Given the description of an element on the screen output the (x, y) to click on. 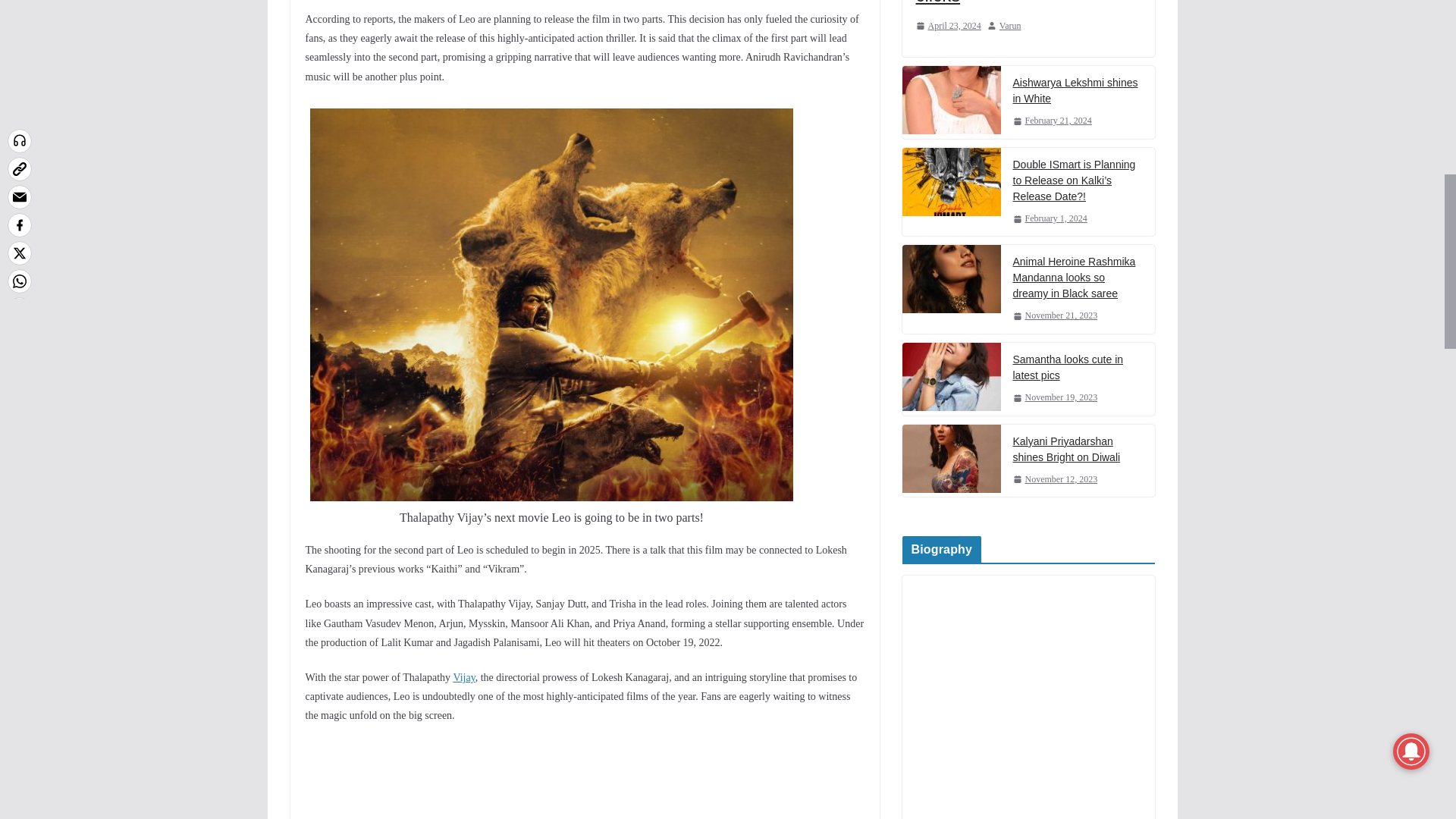
Vijay (463, 677)
Vuukle Emotes Widget (532, 780)
